Given the description of an element on the screen output the (x, y) to click on. 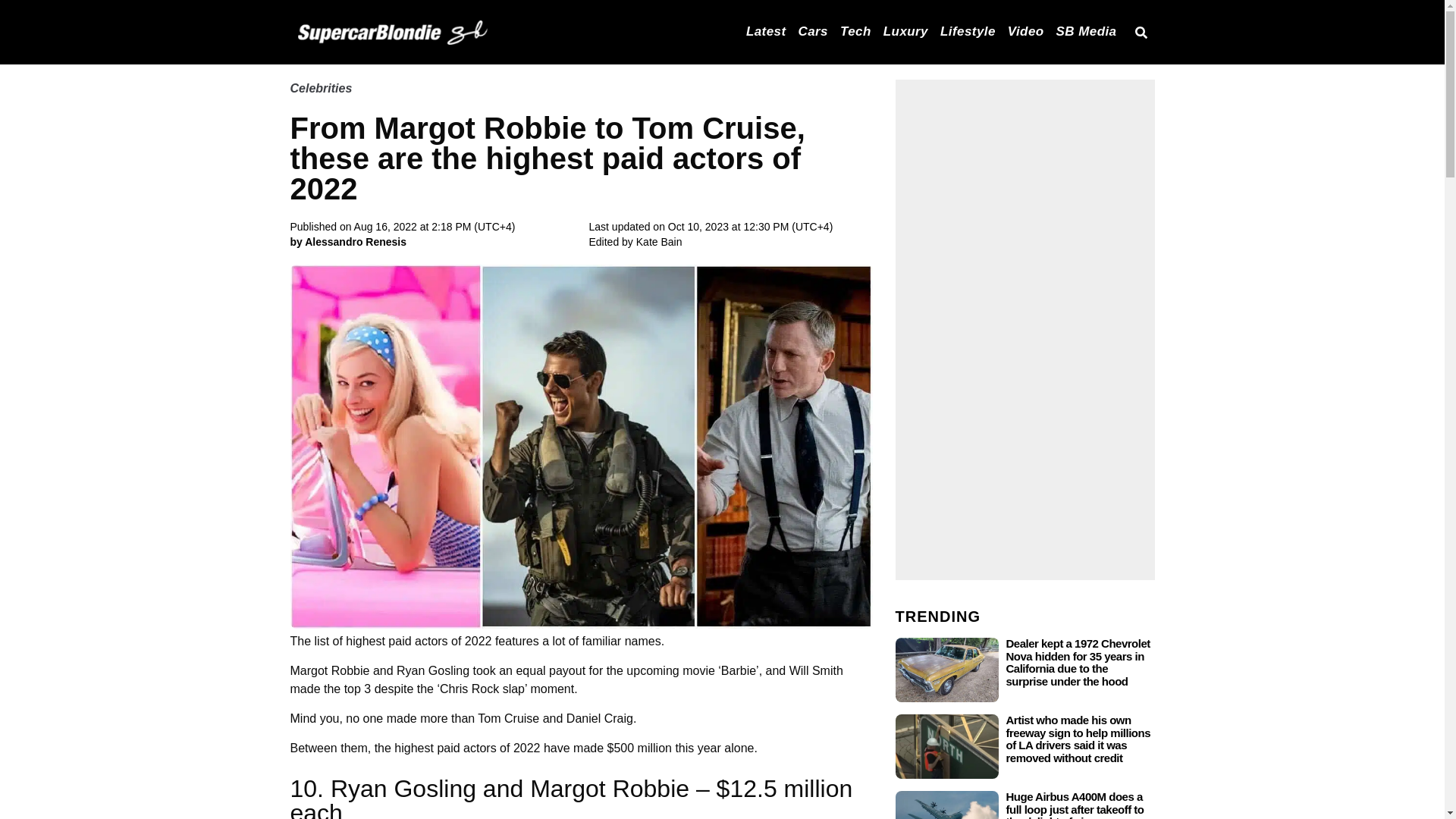
Tech (855, 30)
Latest (765, 30)
Cars (812, 30)
Luxury (905, 30)
